Given the description of an element on the screen output the (x, y) to click on. 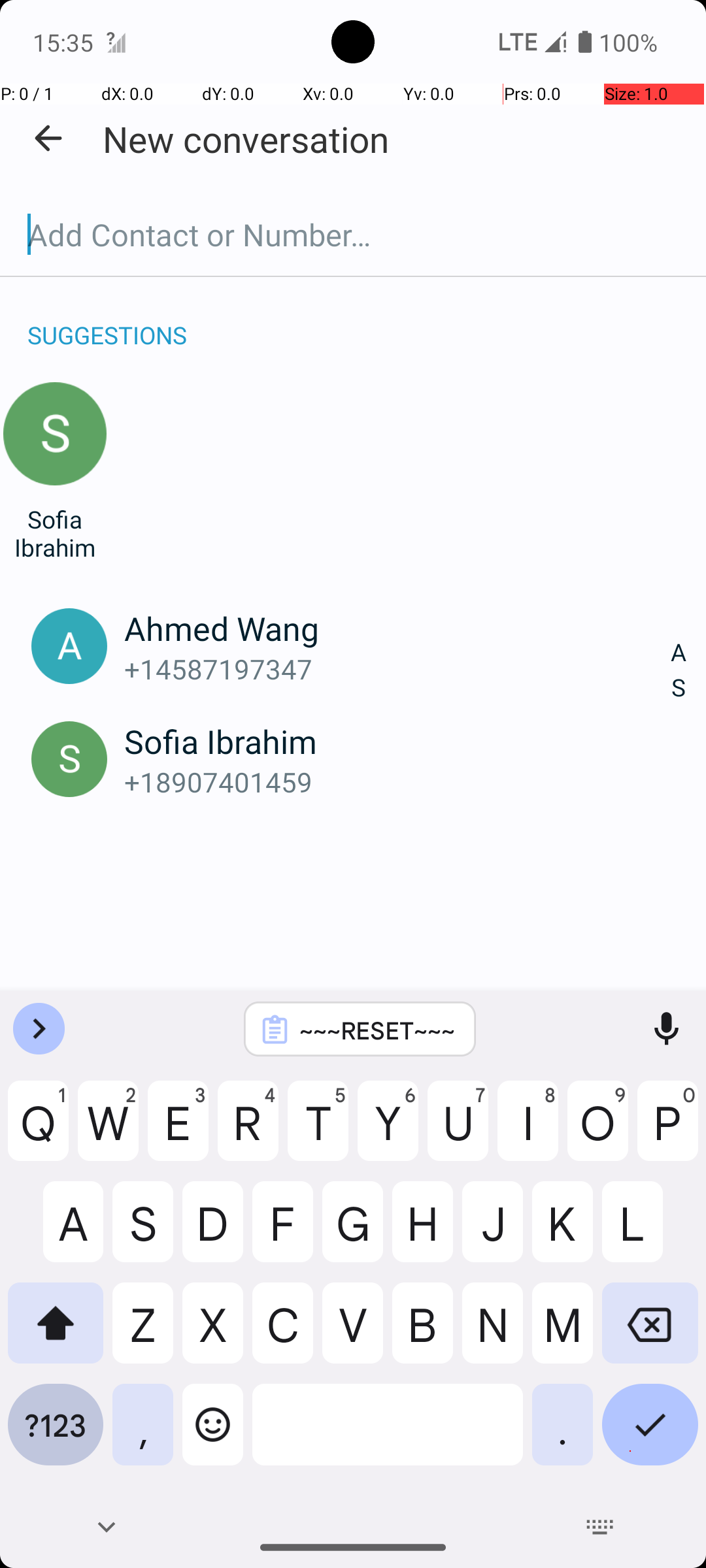
SUGGESTIONS Element type: android.widget.TextView (106, 321)
A
S Element type: android.widget.TextView (678, 670)
Sofia Ibrahim Element type: android.widget.TextView (54, 532)
Ahmed Wang Element type: android.widget.TextView (397, 627)
+14587197347 Element type: android.widget.TextView (397, 668)
+18907401459 Element type: android.widget.TextView (397, 781)
